Given the description of an element on the screen output the (x, y) to click on. 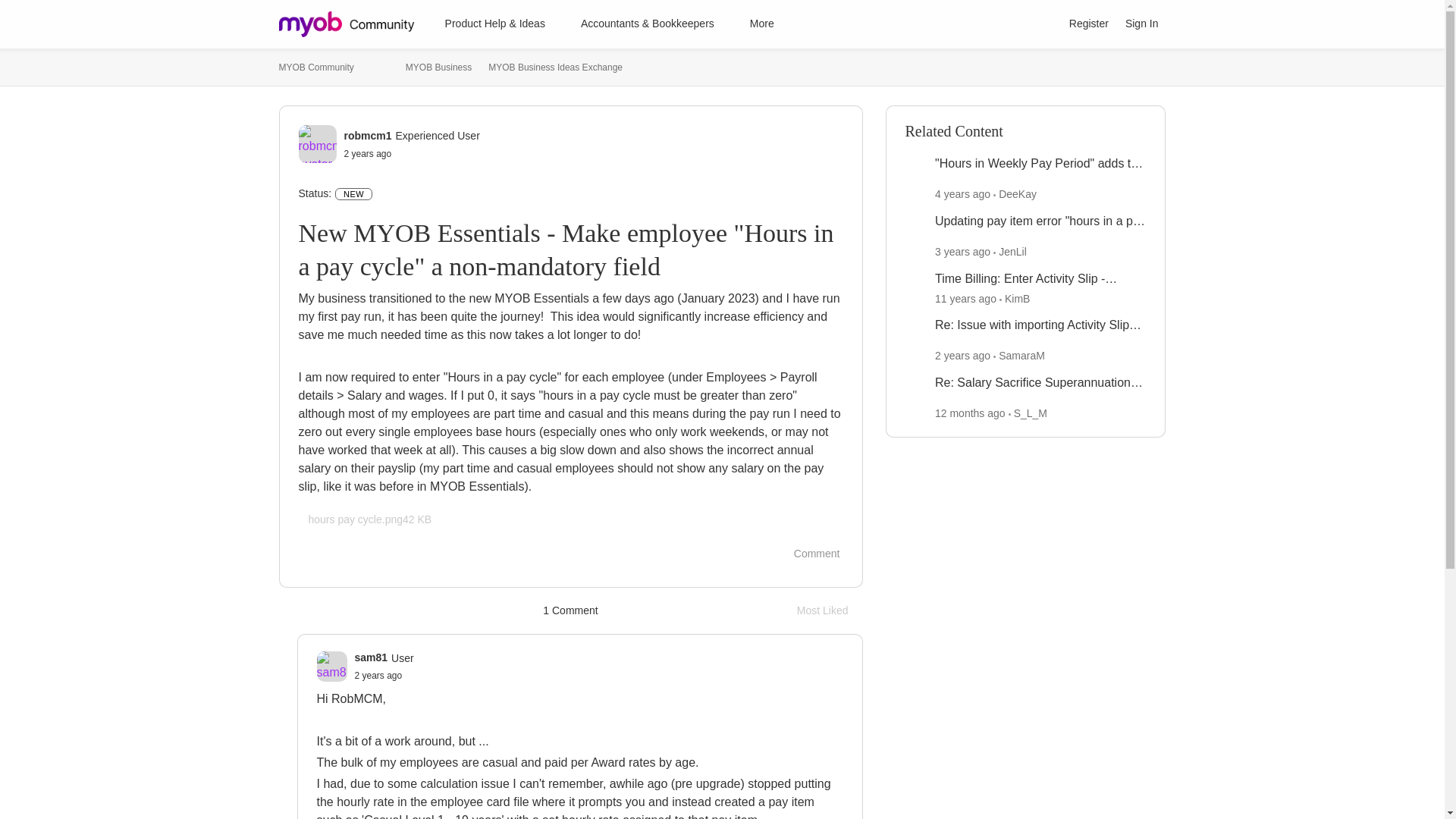
Skip to content (329, 47)
2 years ago (379, 675)
August 21, 2023 at 5:55 AM (969, 413)
robmcm1 (367, 135)
Search (1043, 24)
DeeKay (1017, 193)
More (768, 23)
April 5, 2023 at 9:40 AM (379, 675)
hours pay cycle.png42 KB (370, 519)
Re: Salary Sacrifice Superannuation 'Not Reportable' (1039, 383)
MYOB Community (316, 66)
July 8, 2022 at 1:29 AM (829, 610)
Re: Issue with importing Activity Slips in AccountRight (962, 251)
